Given the description of an element on the screen output the (x, y) to click on. 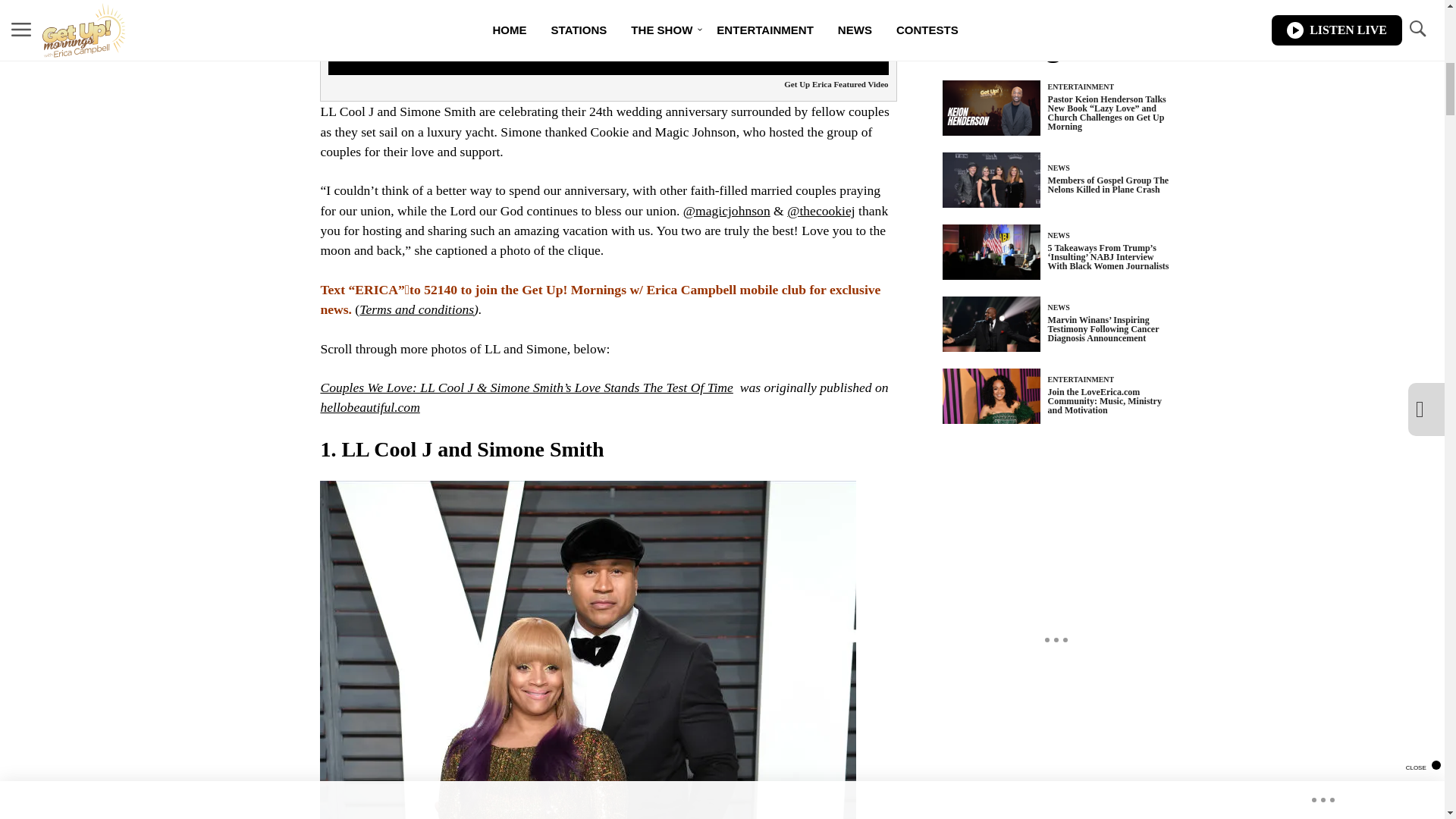
hellobeautiful.com (369, 406)
Terms and conditions (416, 309)
